Given the description of an element on the screen output the (x, y) to click on. 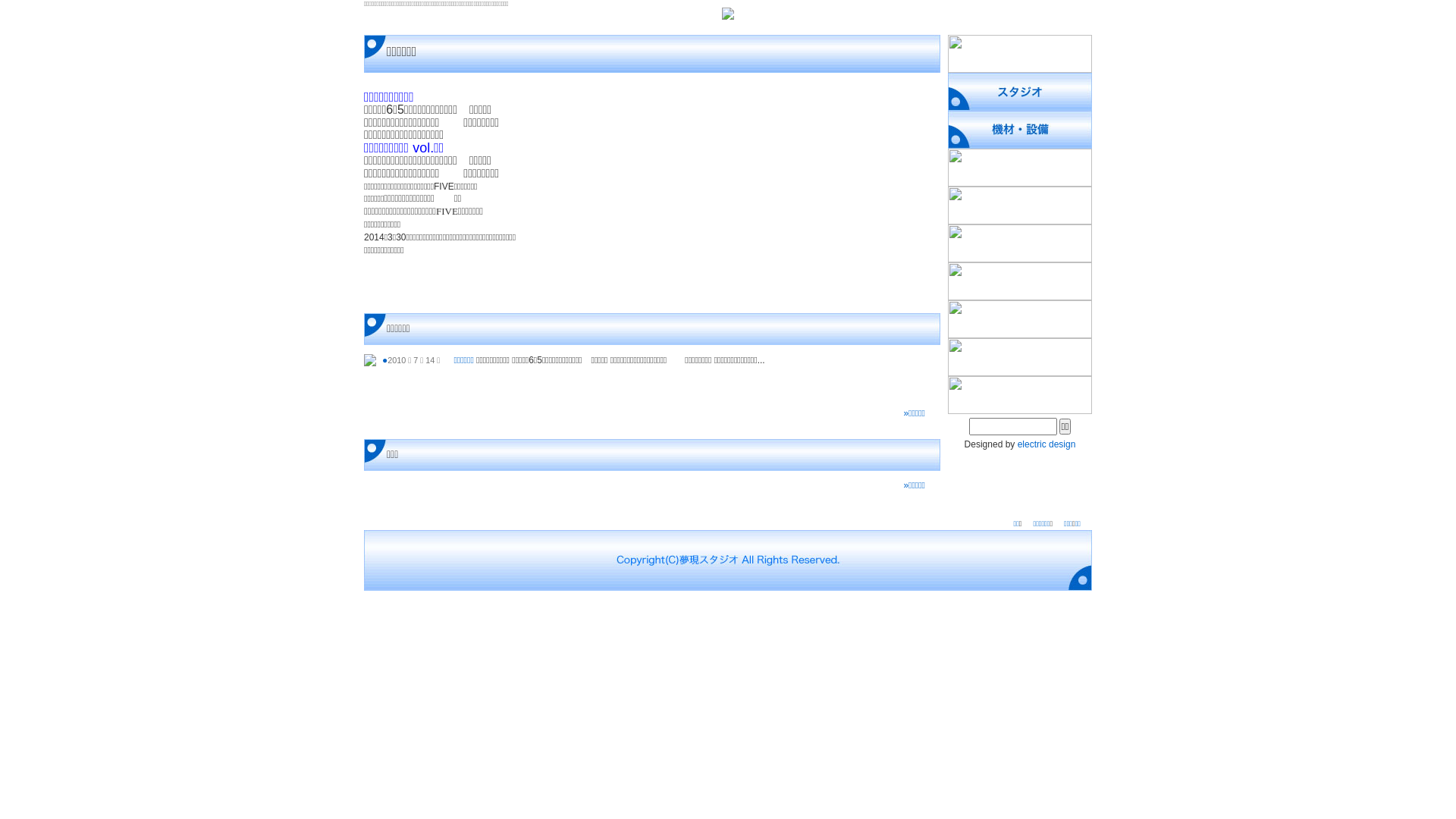
electric design Element type: text (1046, 444)
